Given the description of an element on the screen output the (x, y) to click on. 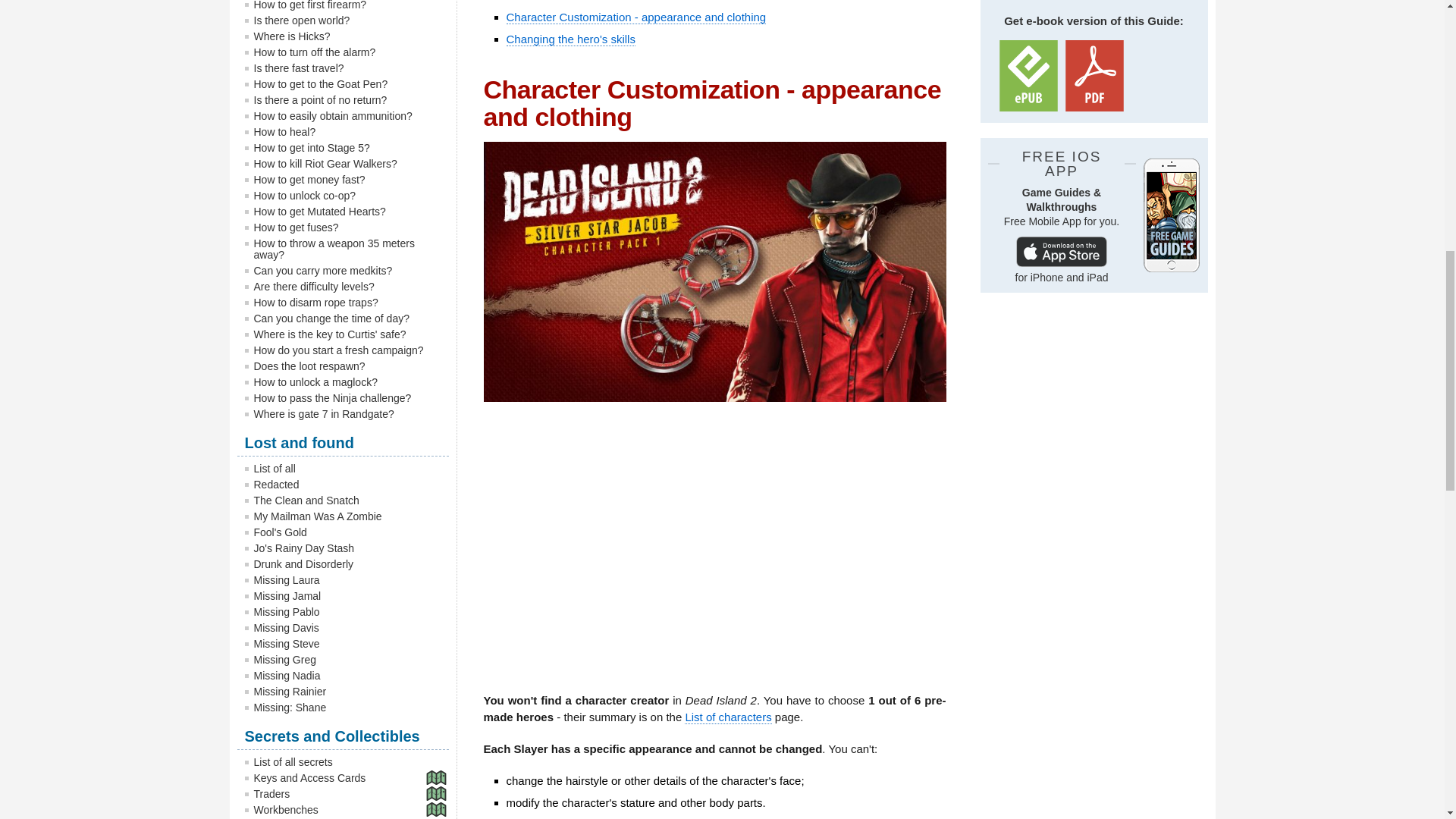
Character Customization - appearance and clothing (636, 17)
Map (434, 793)
List of characters (727, 716)
Download PDF (1093, 75)
Download ePUB (1028, 75)
Map (434, 777)
3rd party ad content (1093, 402)
Changing the hero's skills (570, 38)
